Given the description of an element on the screen output the (x, y) to click on. 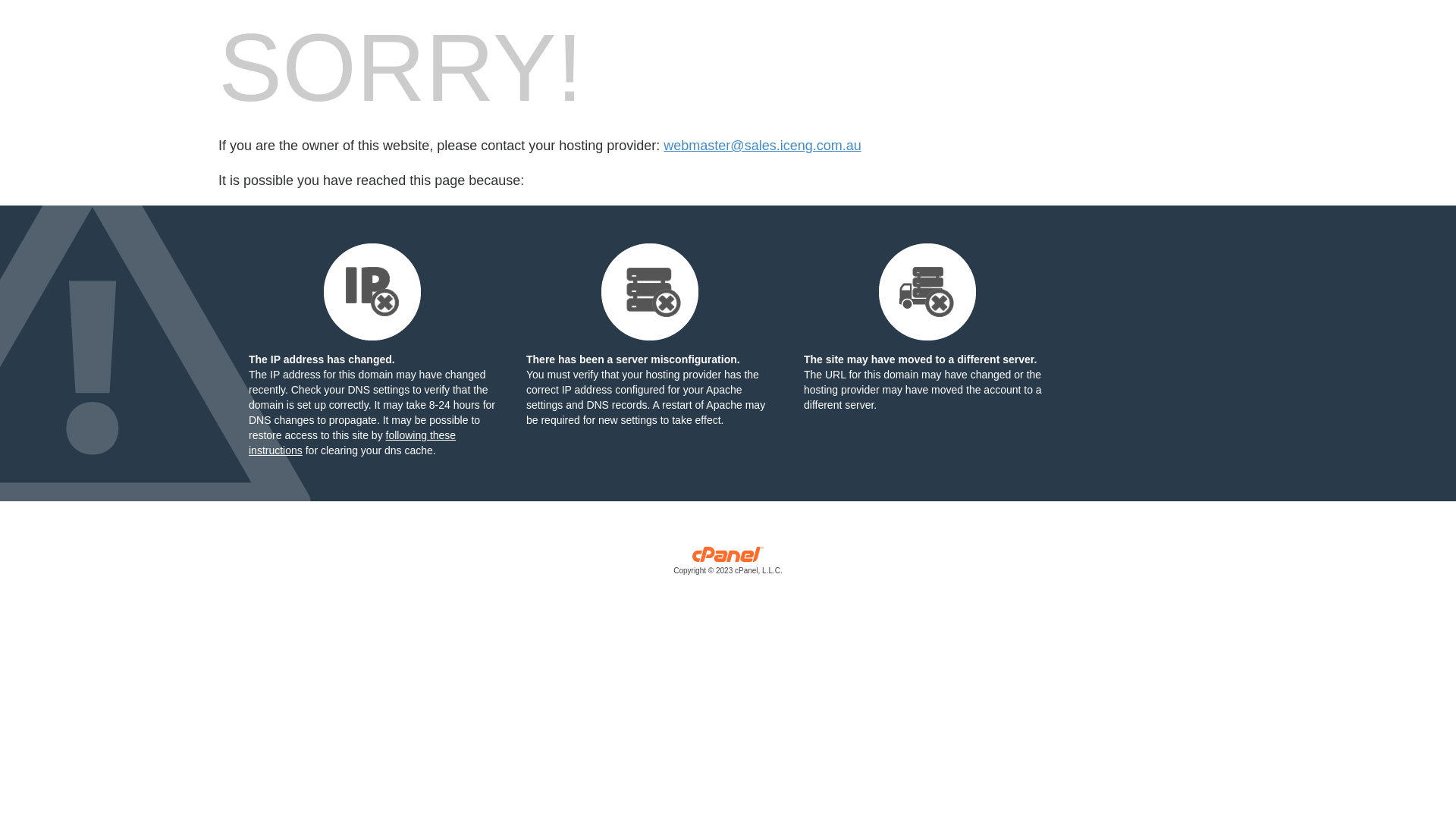
webmaster@sales.iceng.com.au Element type: text (761, 145)
following these instructions Element type: text (351, 442)
